Given the description of an element on the screen output the (x, y) to click on. 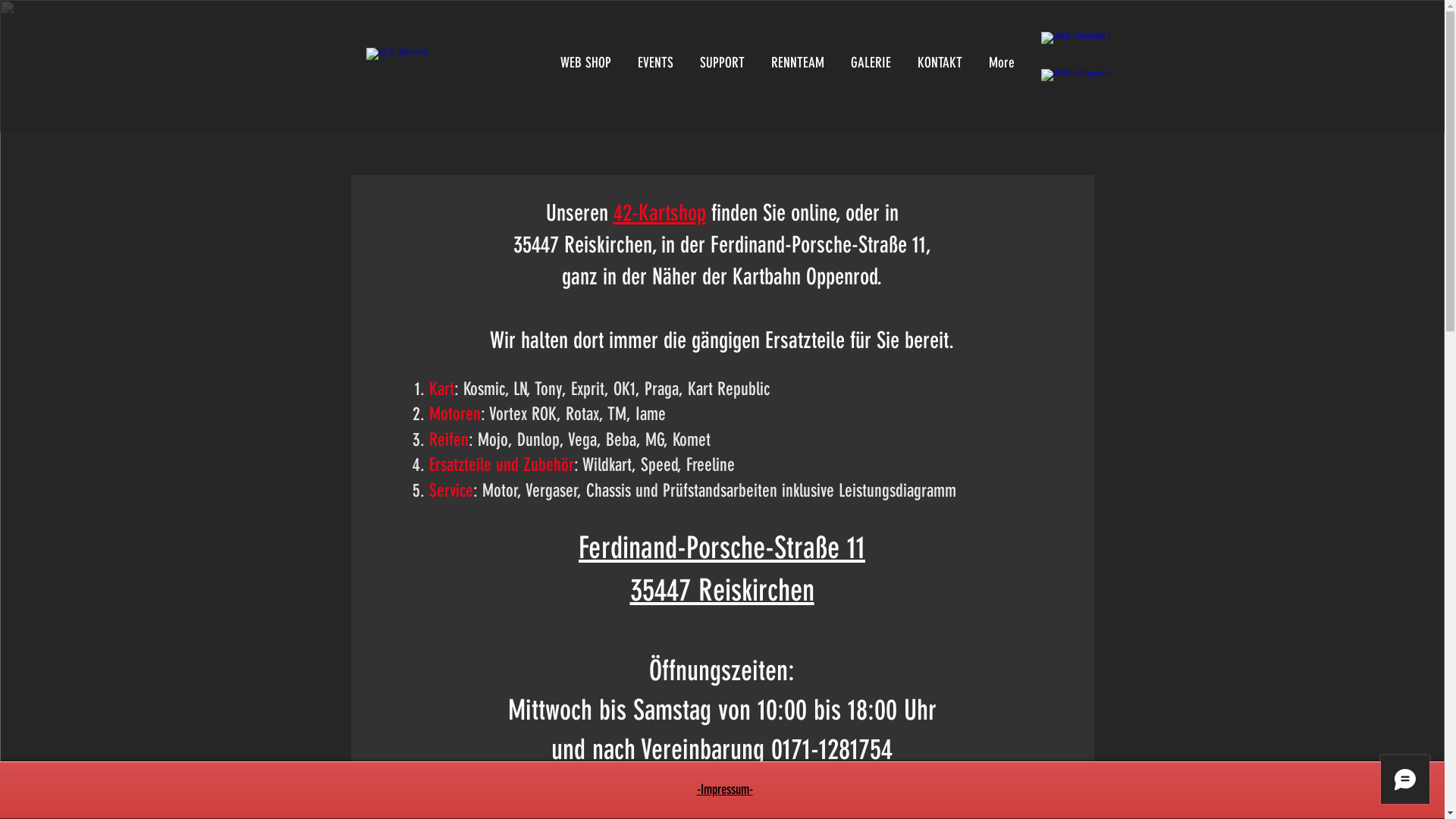
KONTAKT Element type: text (939, 62)
42-Kartshop Element type: text (658, 212)
EVENTS Element type: text (655, 62)
WEB SHOP Element type: text (585, 62)
RENNTEAM Element type: text (797, 62)
GALERIE Element type: text (870, 62)
-Impressum- Element type: text (724, 789)
SUPPORT Element type: text (722, 62)
